Given the description of an element on the screen output the (x, y) to click on. 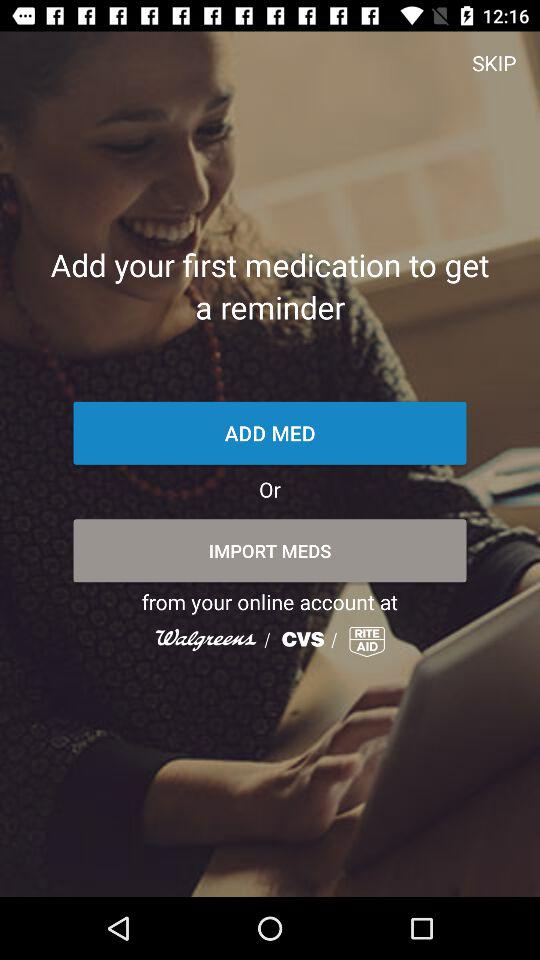
launch the icon at the top right corner (494, 62)
